Given the description of an element on the screen output the (x, y) to click on. 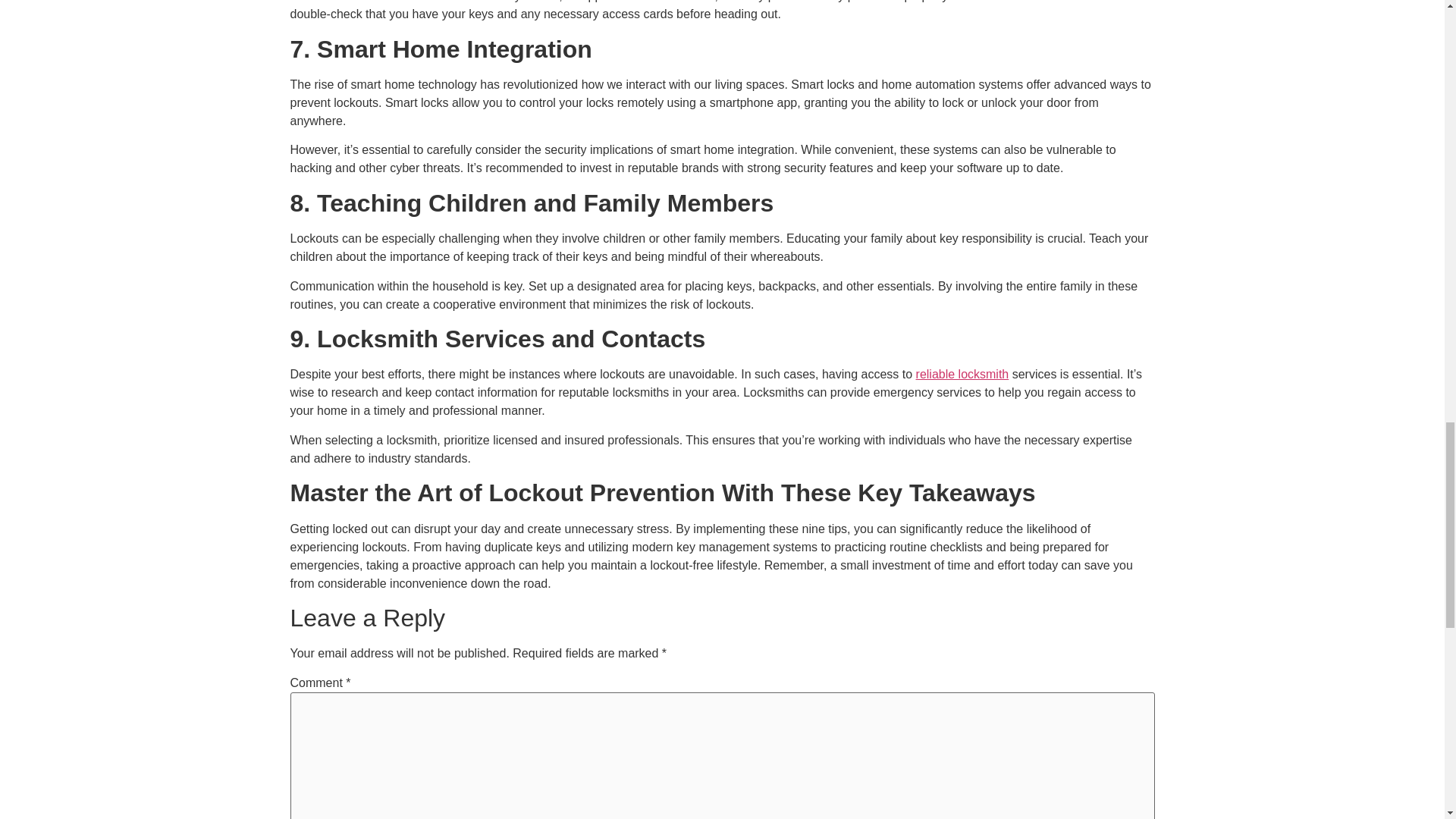
reliable locksmith (962, 373)
